Given the description of an element on the screen output the (x, y) to click on. 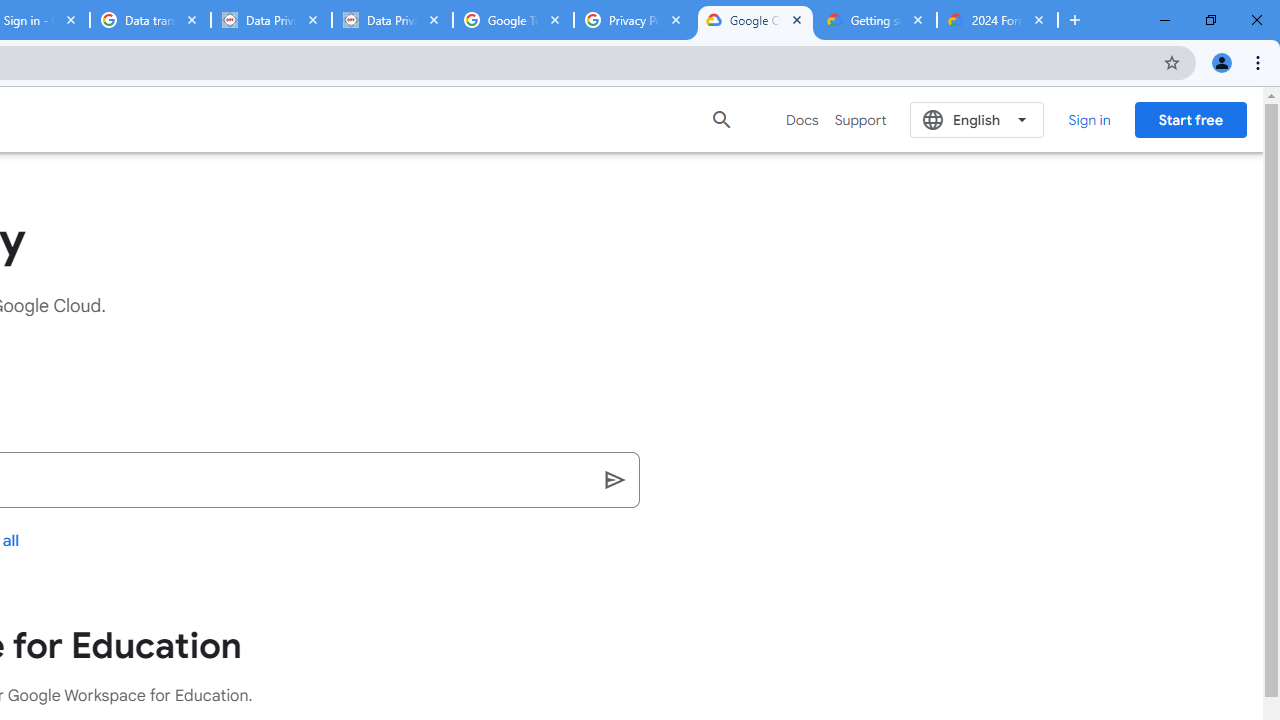
Google Cloud Terms Directory | Google Cloud (755, 20)
Start free (1190, 119)
